Given the description of an element on the screen output the (x, y) to click on. 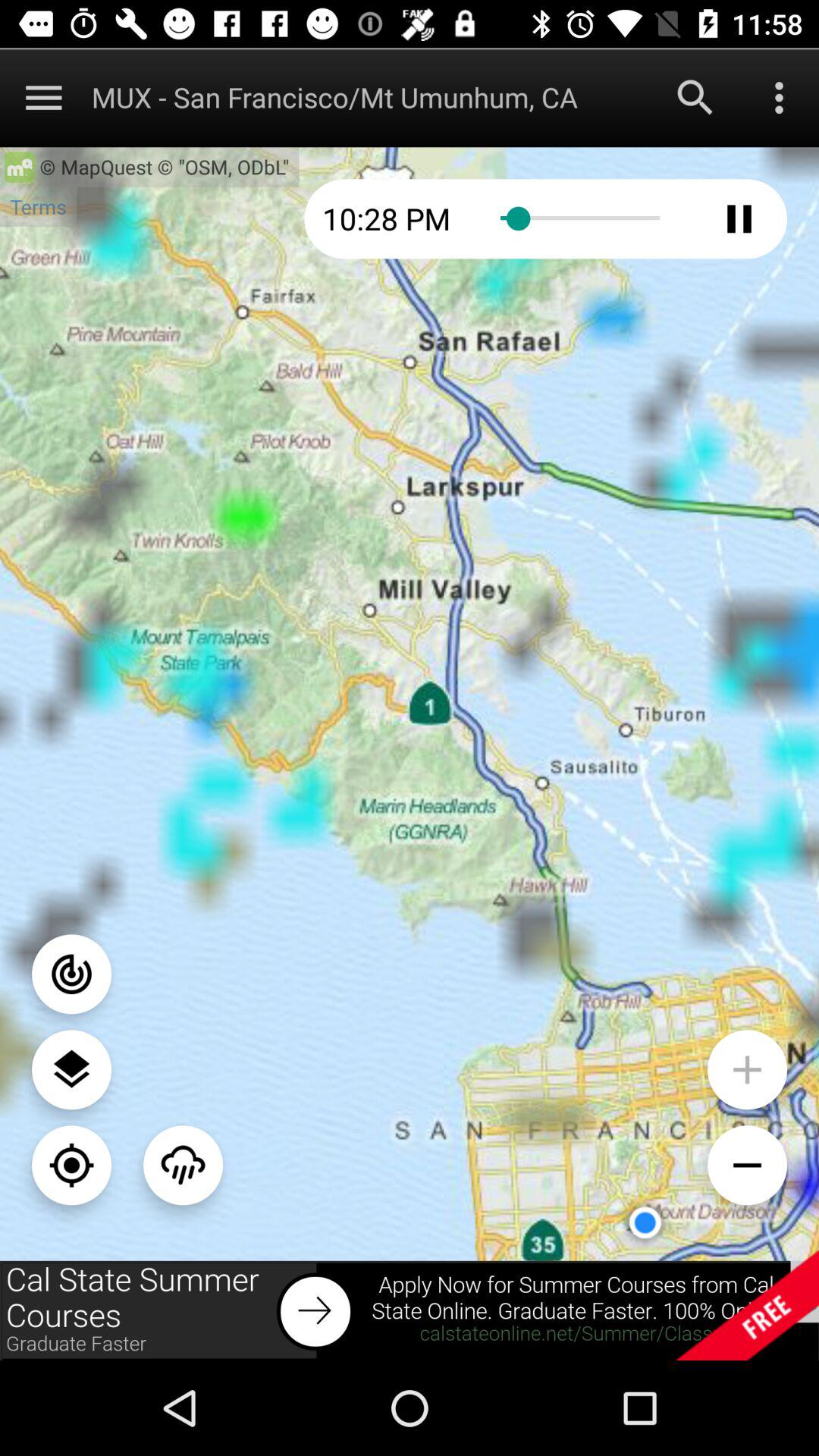
advertisement image (409, 1310)
